Given the description of an element on the screen output the (x, y) to click on. 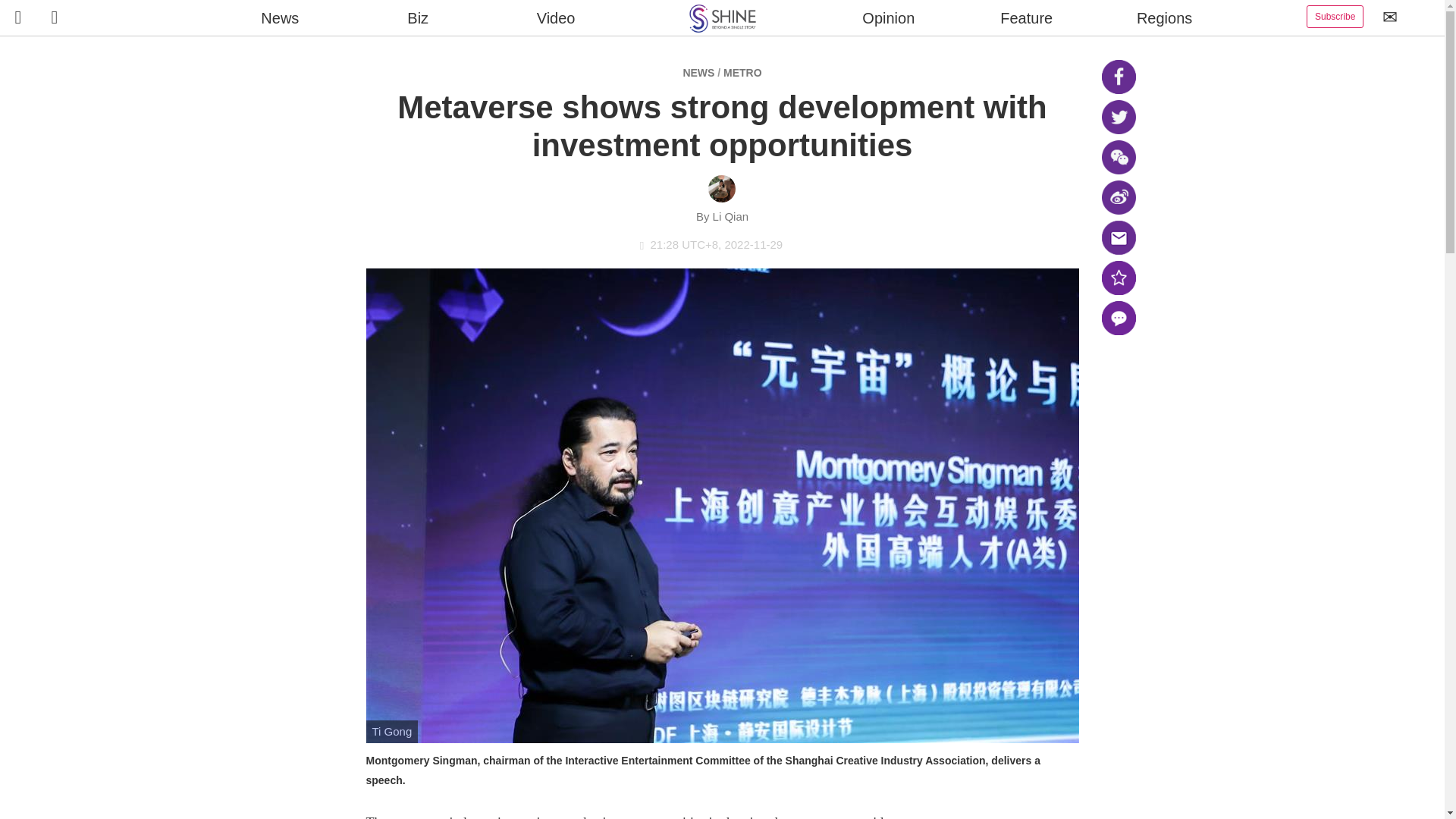
Share via email (1117, 237)
METRO (742, 72)
Share your comments (1117, 317)
Add to favorites (1117, 277)
NEWS (698, 72)
